Given the description of an element on the screen output the (x, y) to click on. 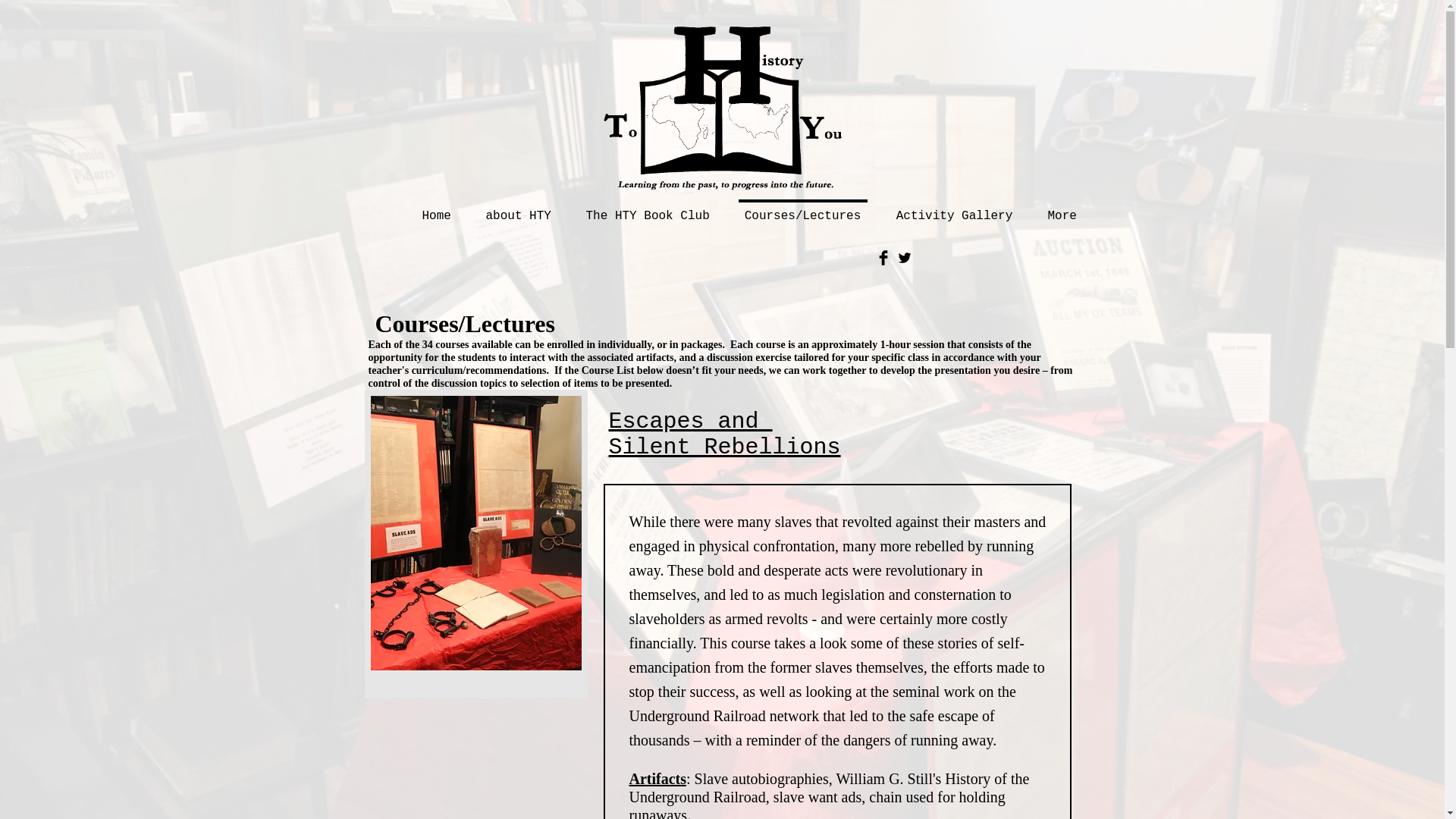
Home (436, 209)
about HTY (518, 209)
The HTY Book Club (647, 209)
Activity Gallery (953, 209)
